Given the description of an element on the screen output the (x, y) to click on. 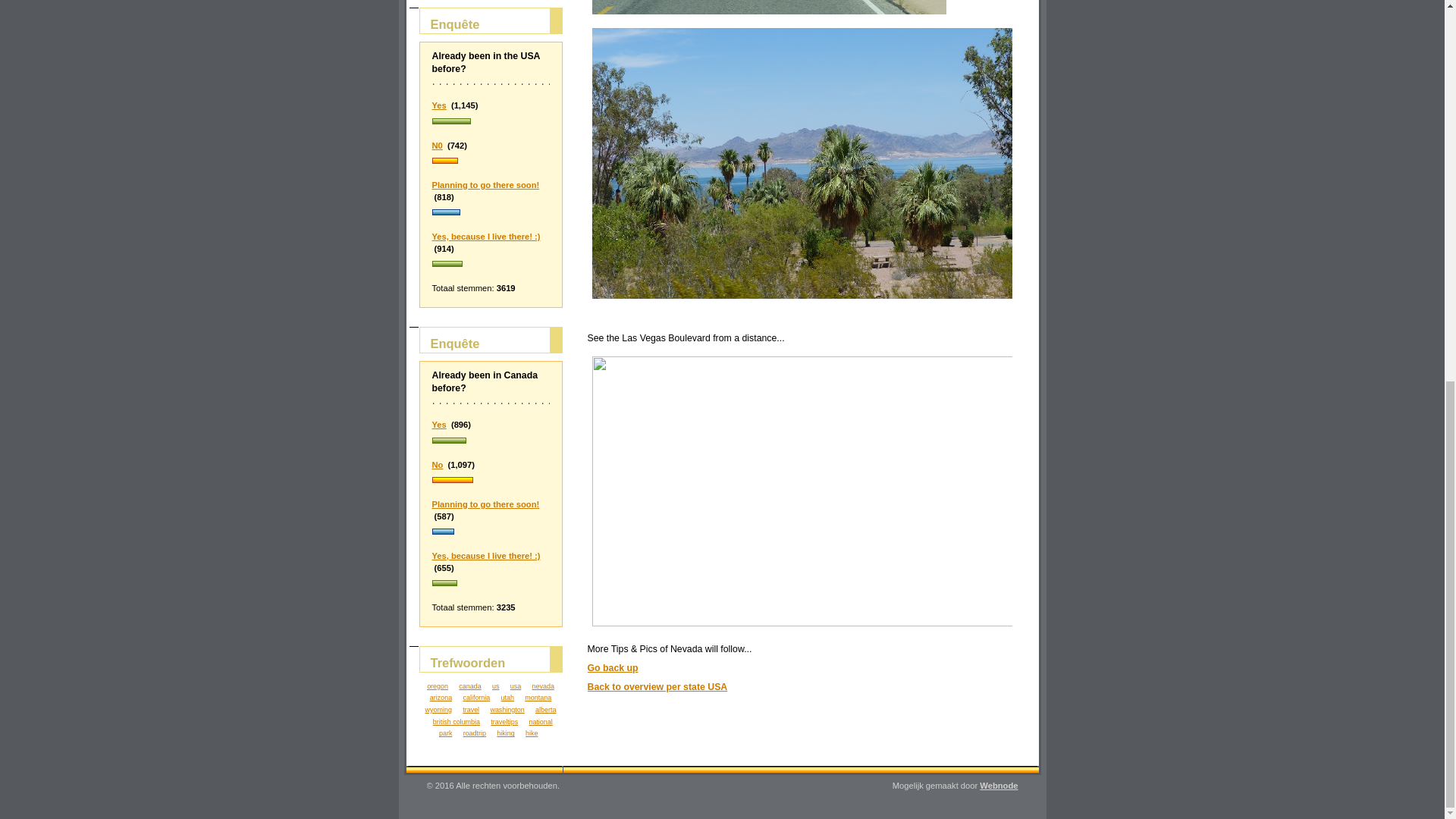
Stem op deze (439, 424)
Stem op deze (491, 480)
Stem op deze (491, 213)
Stem op deze (491, 121)
Stem op deze (491, 440)
No (438, 464)
Planning to go there soon! (486, 503)
Stem op deze (491, 264)
Stem op deze (486, 503)
Yes (439, 104)
Stem op deze (491, 583)
Stem op deze (486, 184)
Stem op deze (486, 555)
Stem op deze (491, 161)
Stem op deze (438, 464)
